Given the description of an element on the screen output the (x, y) to click on. 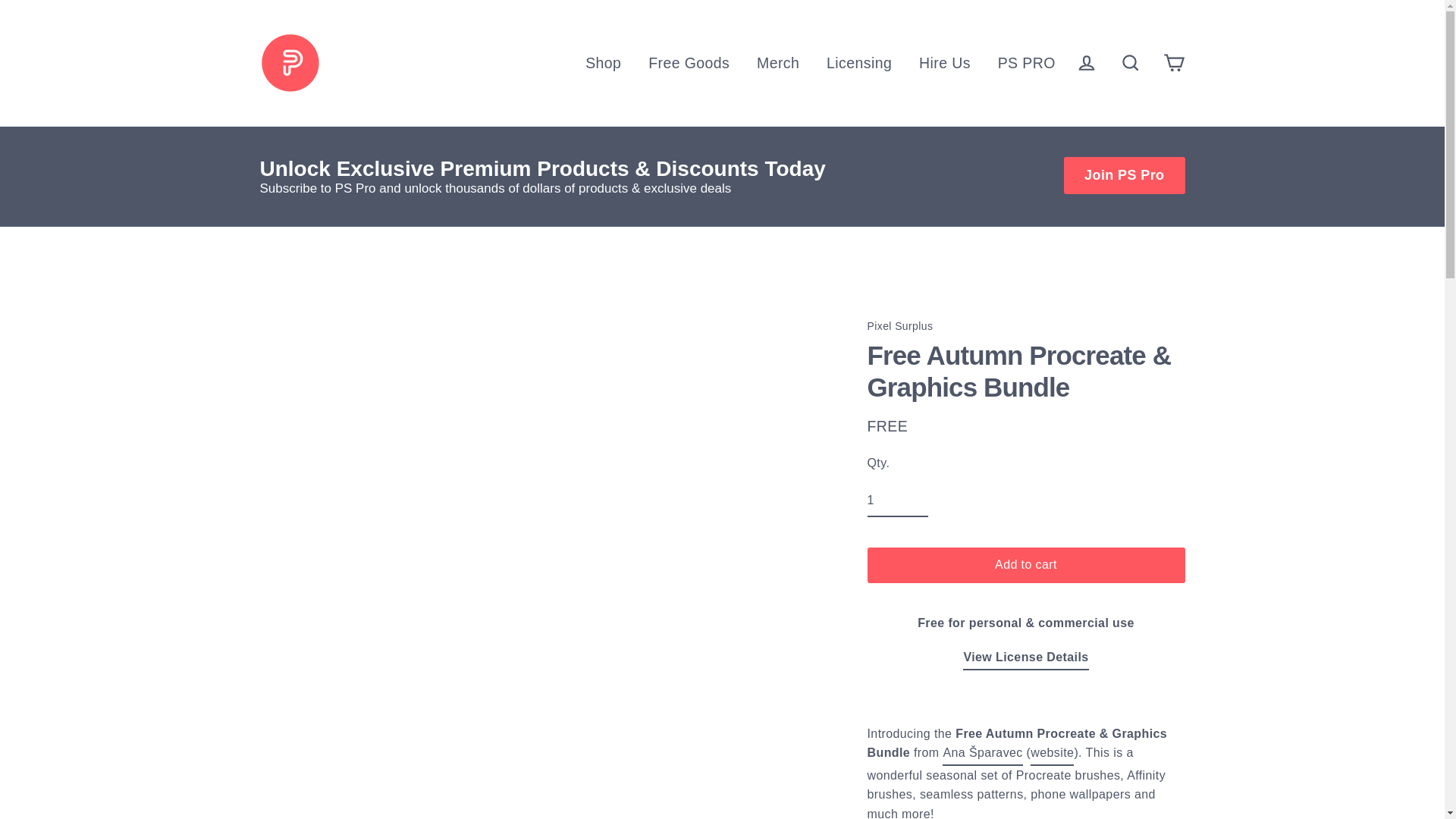
1 (897, 500)
Pixel Surplus Licensing (1024, 658)
